Given the description of an element on the screen output the (x, y) to click on. 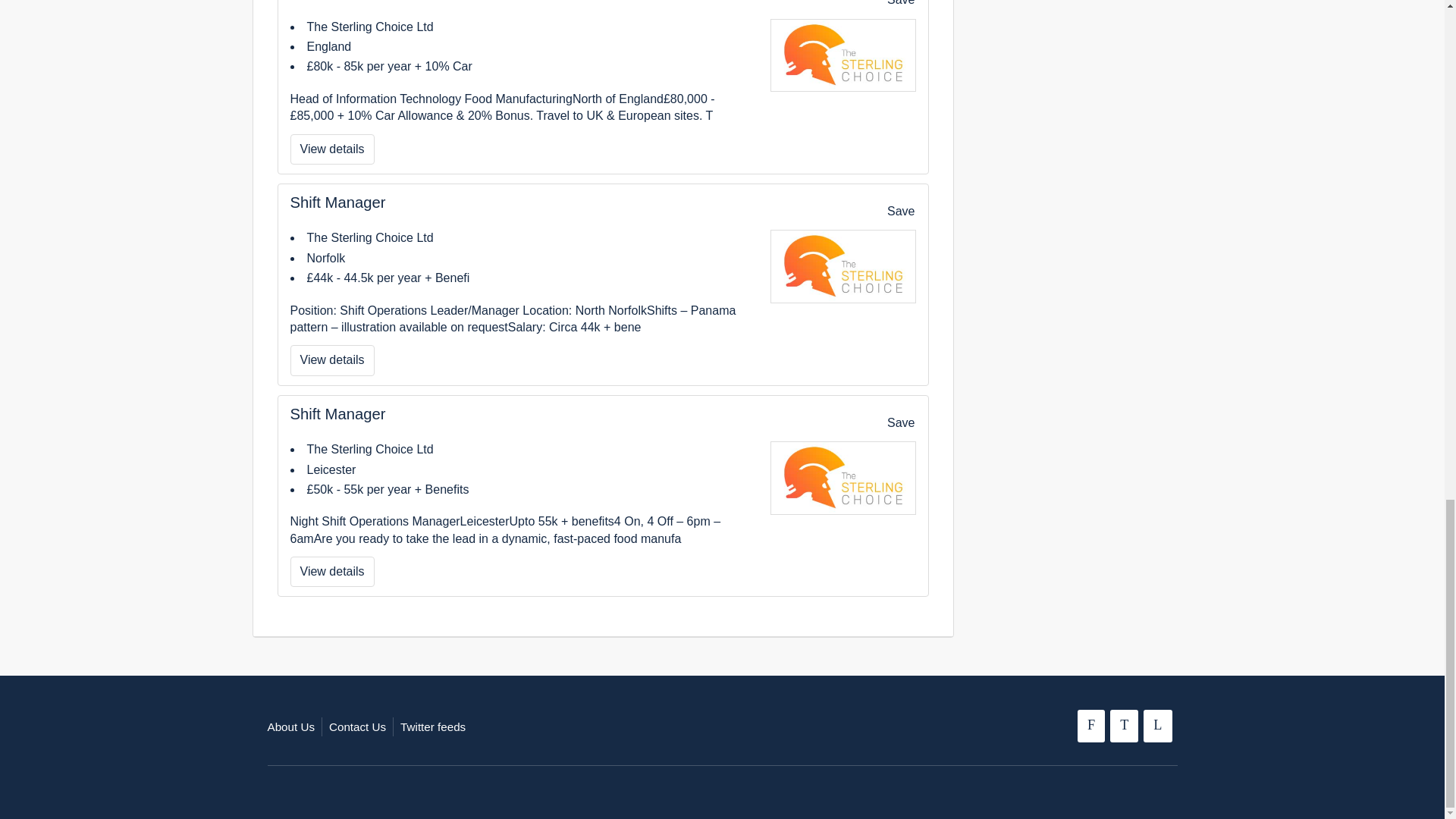
Click to add the job to your shortlist (891, 9)
Shift Manager (900, 422)
Click to add the job to your shortlist (331, 571)
Click to add the job to your shortlist (337, 413)
